Given the description of an element on the screen output the (x, y) to click on. 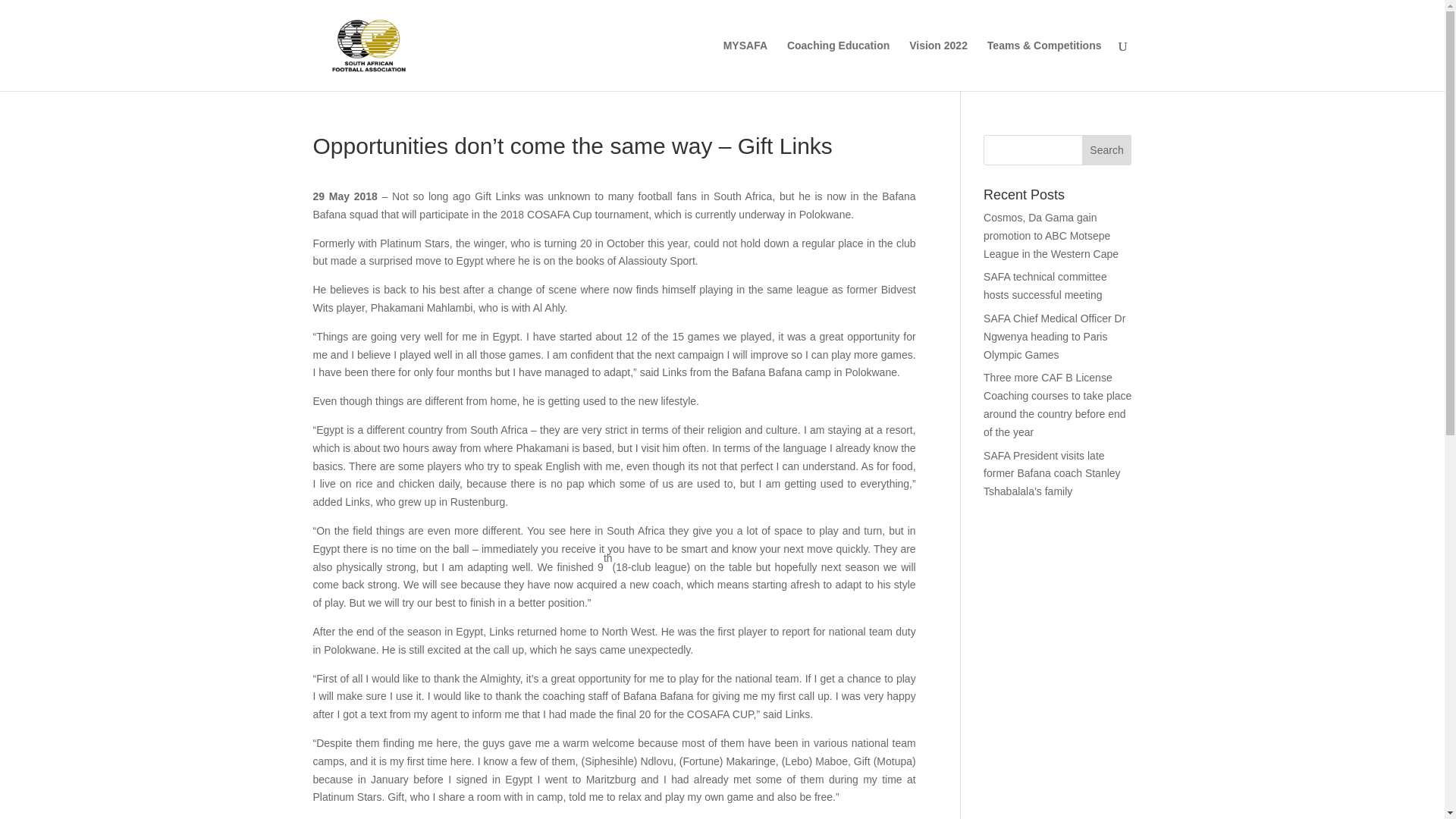
SAFA technical committee hosts successful meeting (1045, 286)
Search (1106, 150)
Vision 2022 (938, 65)
Coaching Education (838, 65)
Search (1106, 150)
